Given the description of an element on the screen output the (x, y) to click on. 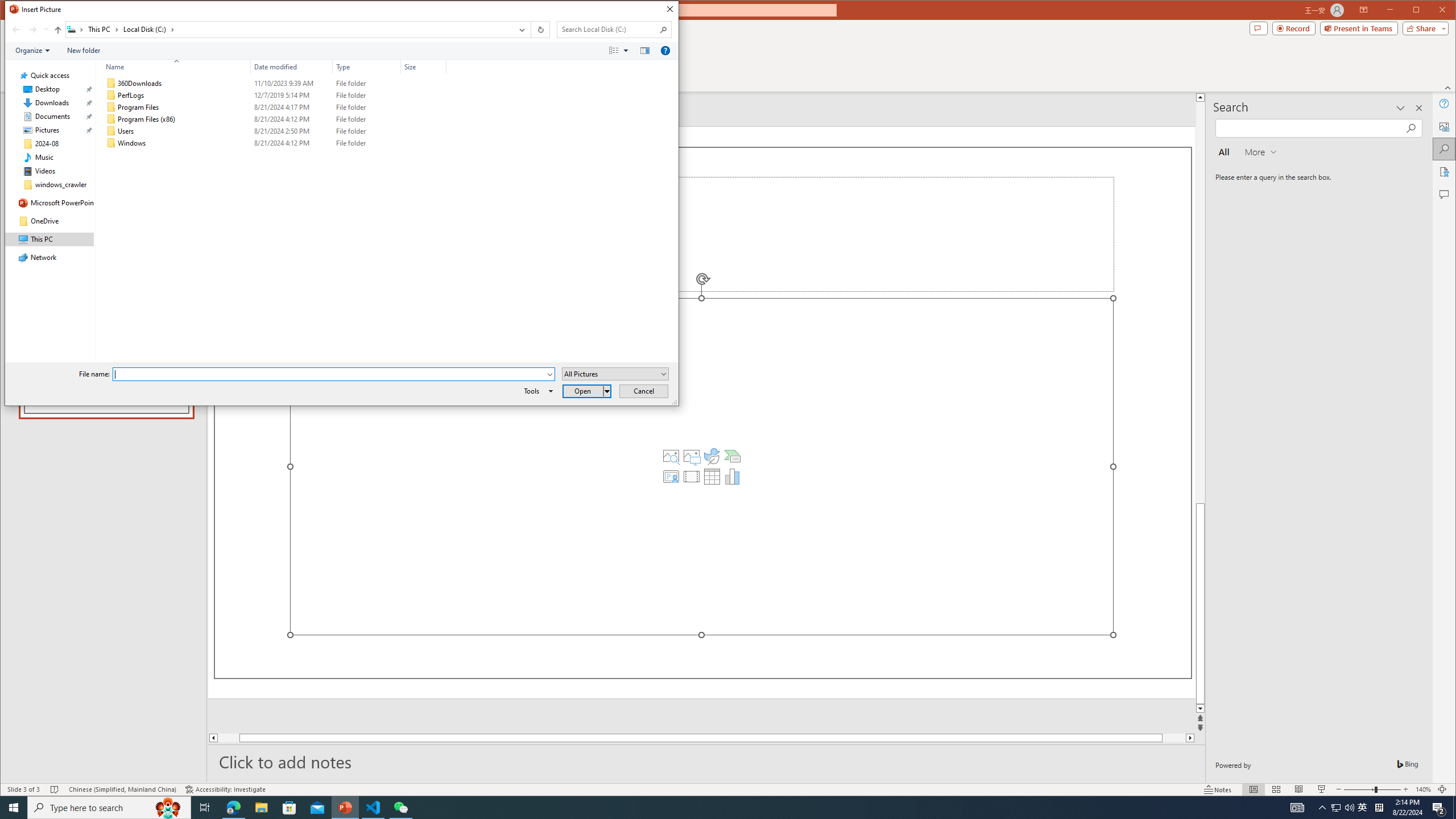
Command Module (341, 50)
This PC (102, 29)
Address band toolbar (530, 29)
PerfLogs (273, 95)
Date modified (291, 142)
